Given the description of an element on the screen output the (x, y) to click on. 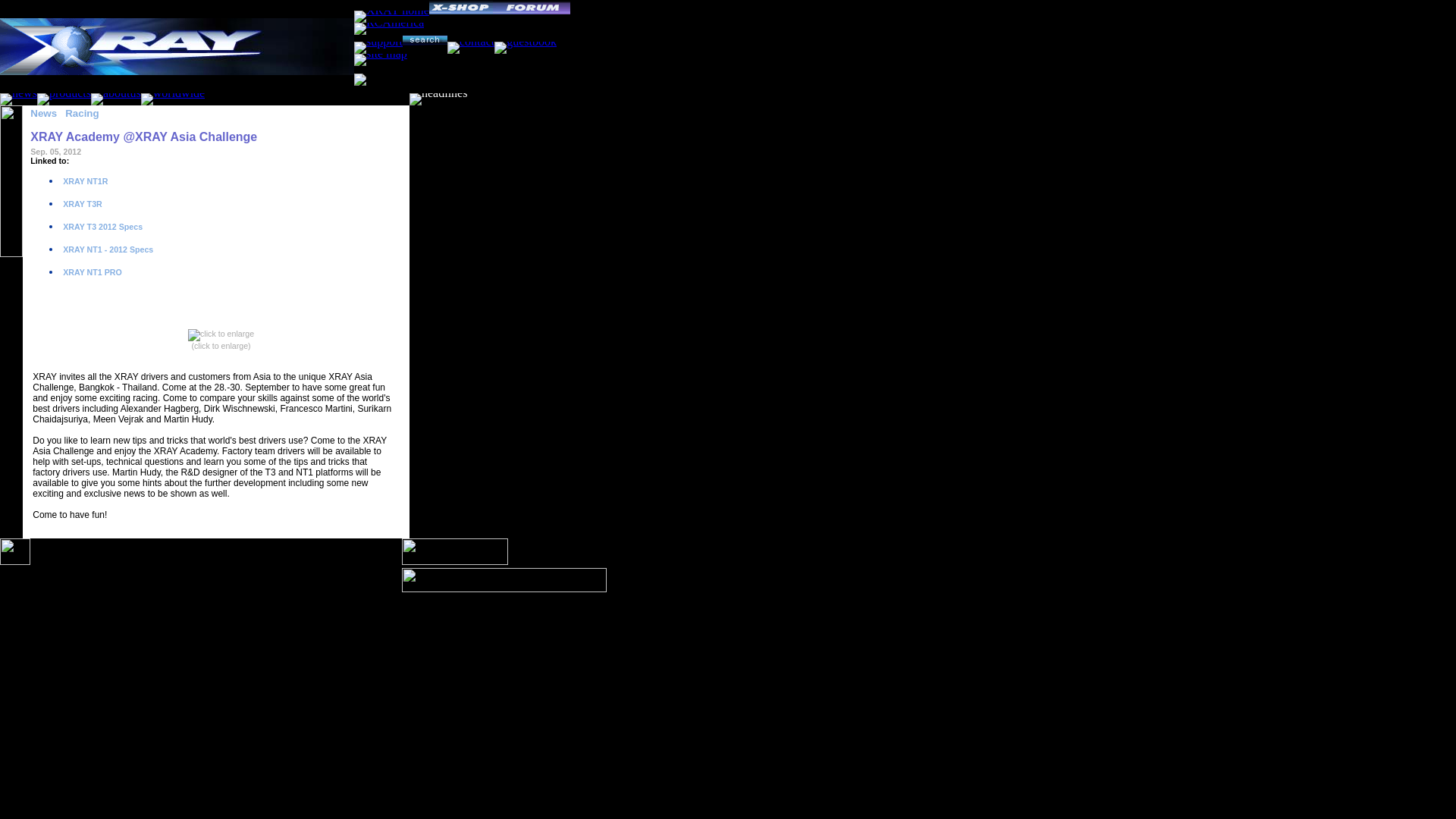
 XRAY NT1 PRO (91, 271)
 XRAY NT1 - 2012 Specs (106, 248)
 XRAY T3R (81, 203)
News (43, 112)
 XRAY NT1R (84, 180)
Racing (82, 112)
 XRAY T3 2012 Specs (101, 225)
